Given the description of an element on the screen output the (x, y) to click on. 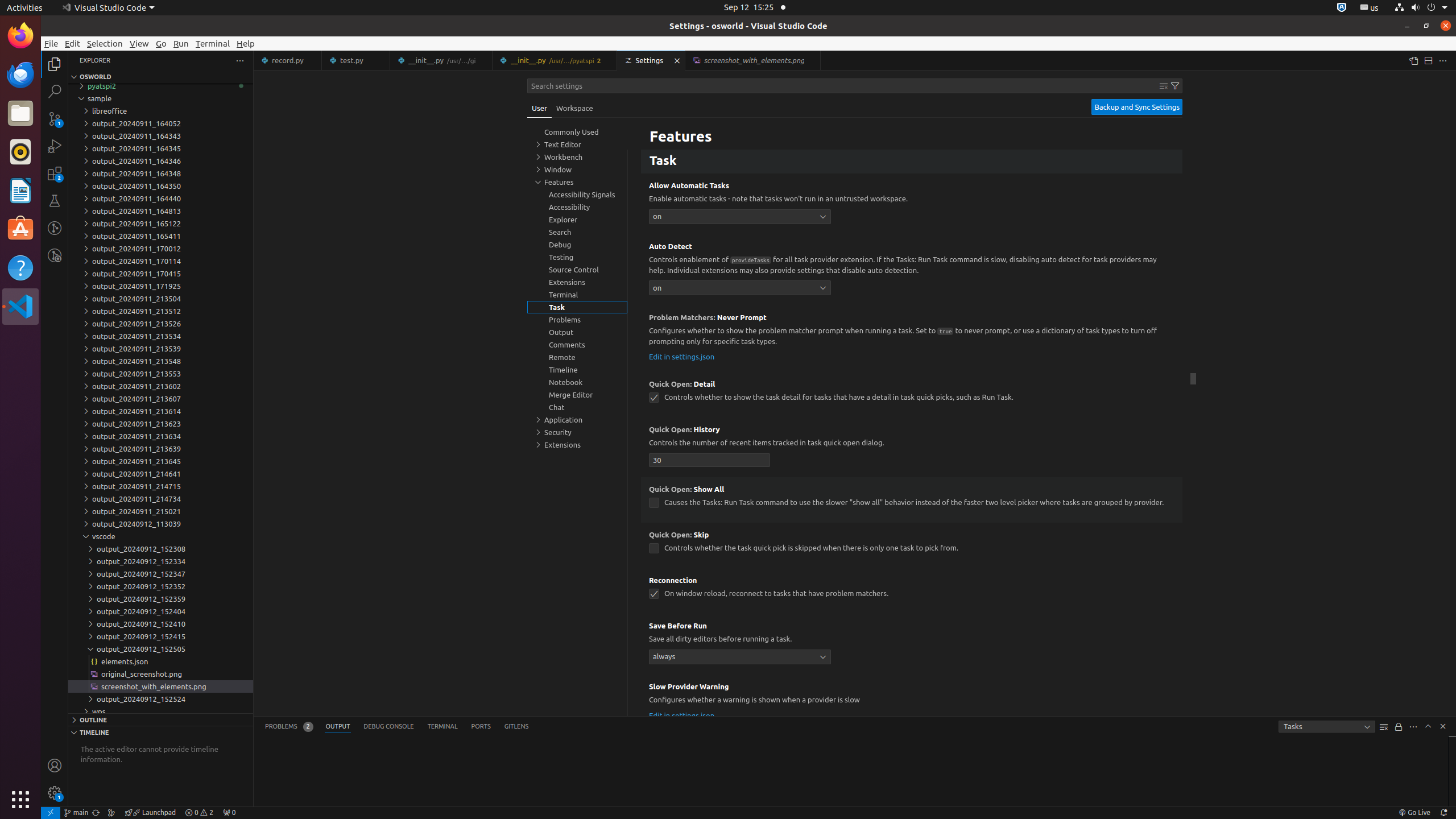
Close (Ctrl+W) Element type: push-button (812, 60)
output_20240911_165411 Element type: tree-item (160, 235)
screenshot_with_elements.png Element type: tree-item (160, 686)
 Reconnection. On window reload, reconnect to tasks that have problem matchers.  Element type: tree-item (911, 590)
